Given the description of an element on the screen output the (x, y) to click on. 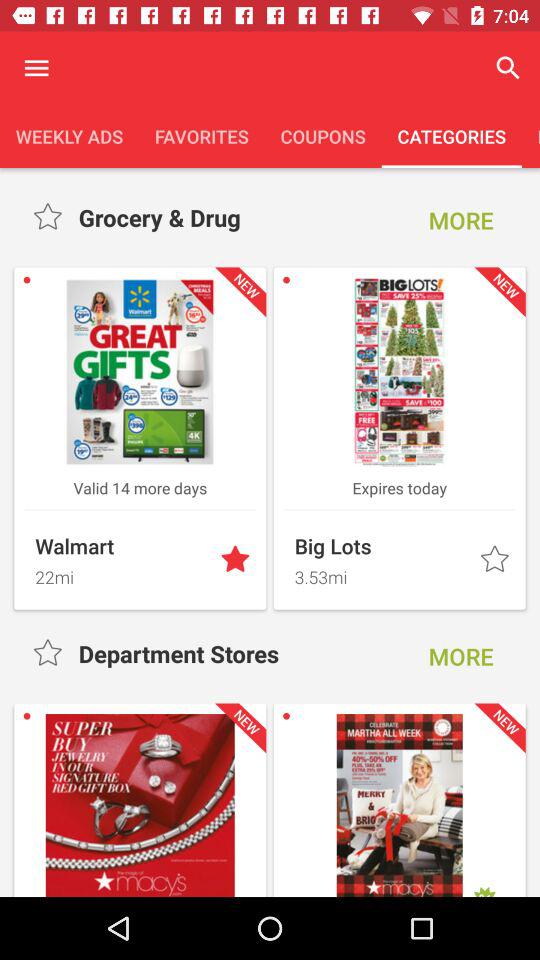
select your shopping department (49, 217)
